Given the description of an element on the screen output the (x, y) to click on. 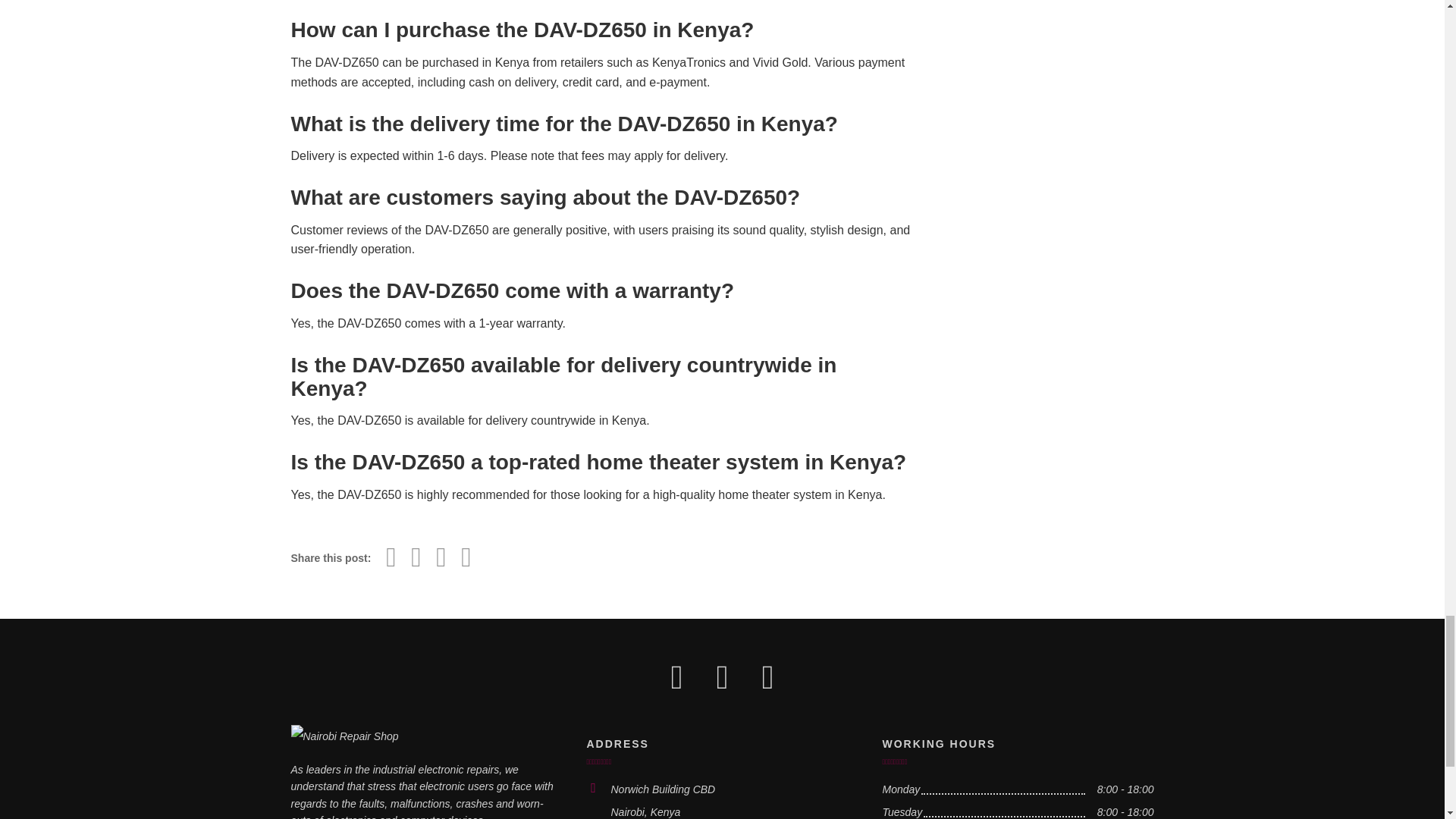
Share on LinkedIn (465, 556)
Share on Twitter (415, 556)
Share on Facebook (390, 556)
